Given the description of an element on the screen output the (x, y) to click on. 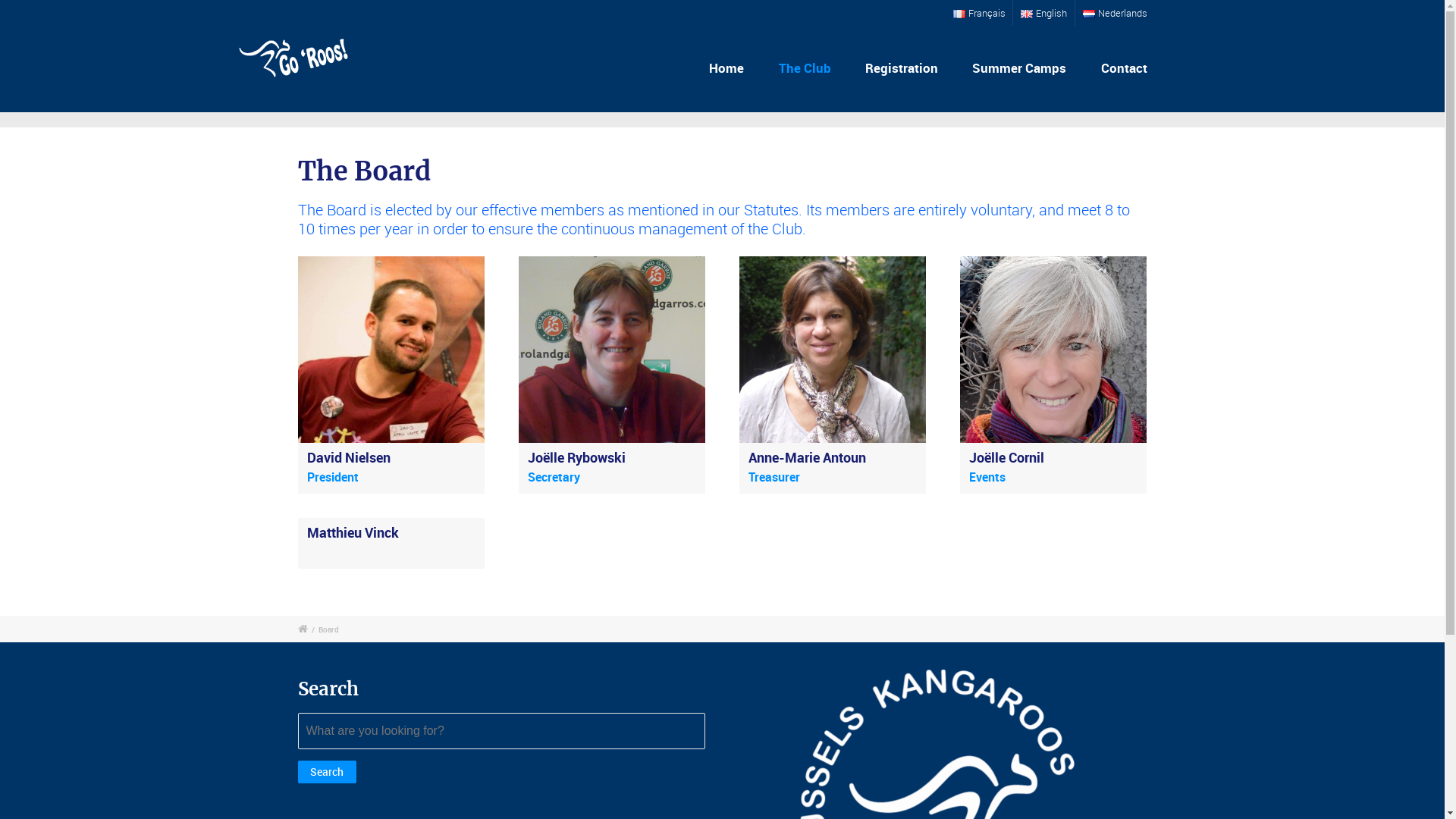
David Nielsen Element type: text (347, 457)
Matthieu Vinck Element type: text (352, 532)
Summer Camps Element type: text (1019, 67)
Anne-Marie Antoun Element type: text (807, 457)
English Element type: text (1043, 12)
Contact Element type: text (1121, 67)
The Club Element type: text (804, 67)
Search Element type: text (326, 771)
Nederlands Element type: text (1114, 12)
Home Element type: text (726, 67)
Registration Element type: text (901, 67)
